Given the description of an element on the screen output the (x, y) to click on. 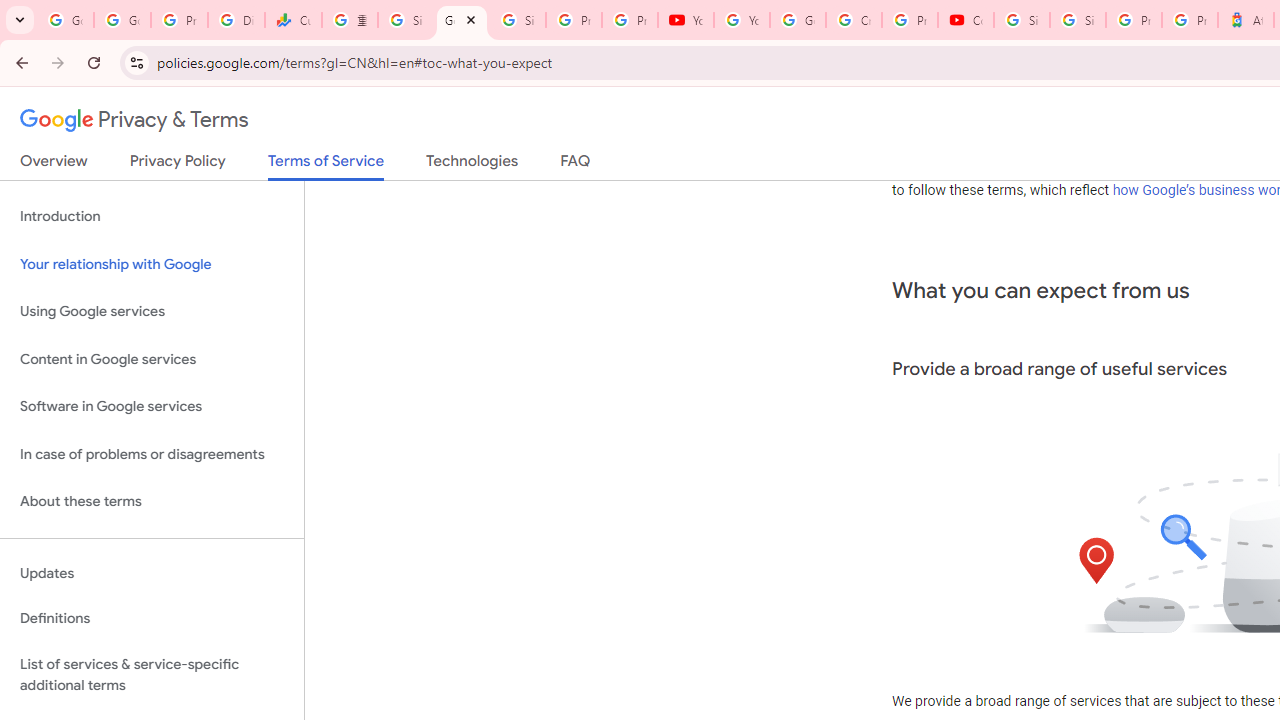
About these terms (152, 502)
Content in Google services (152, 358)
Google Account Help (797, 20)
Privacy Checkup (629, 20)
Currencies - Google Finance (293, 20)
